Given the description of an element on the screen output the (x, y) to click on. 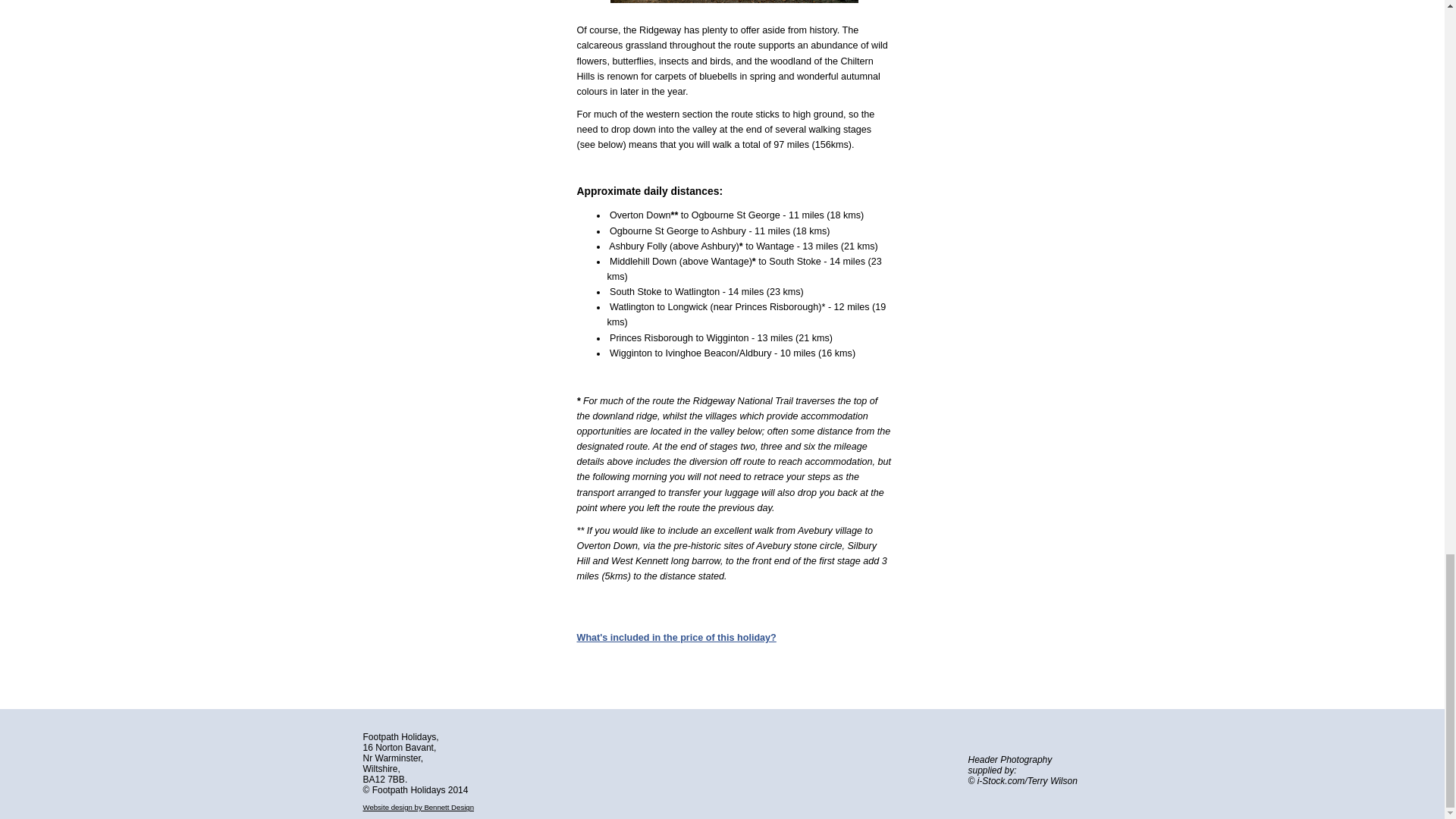
What's included in the price of this holiday? (676, 637)
Website design by Bennett Design (417, 807)
Wayland Smithy (734, 1)
